Given the description of an element on the screen output the (x, y) to click on. 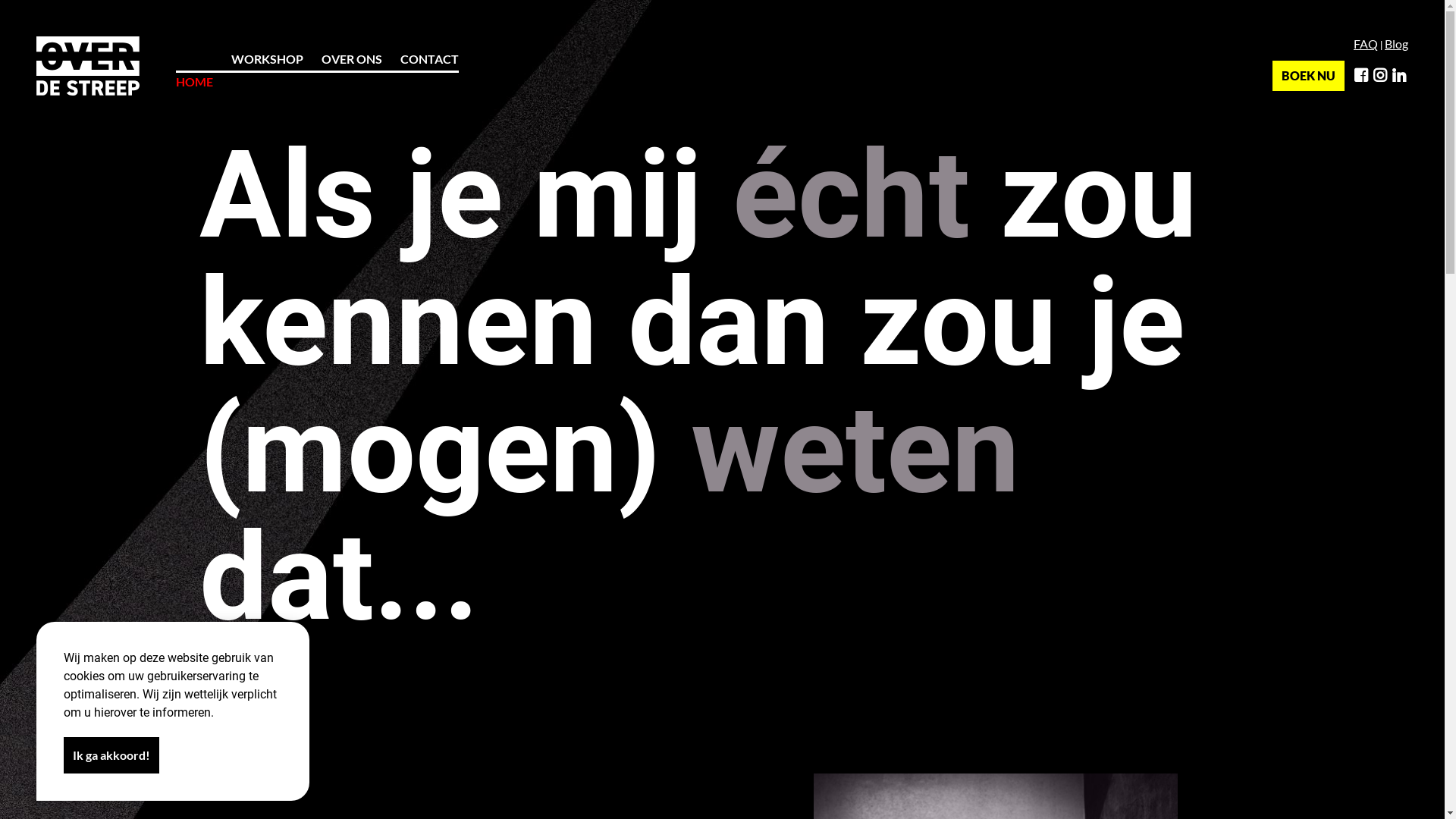
WORKSHOP Element type: text (267, 58)
Ga naar de homepagina Element type: hover (87, 65)
BOEK NU Element type: text (1308, 75)
HOME Element type: text (194, 69)
Blog Element type: text (1396, 43)
OVER ONS Element type: text (351, 58)
FAQ Element type: text (1365, 43)
CONTACT Element type: text (429, 58)
Ik ga akkoord! Element type: text (111, 755)
